Given the description of an element on the screen output the (x, y) to click on. 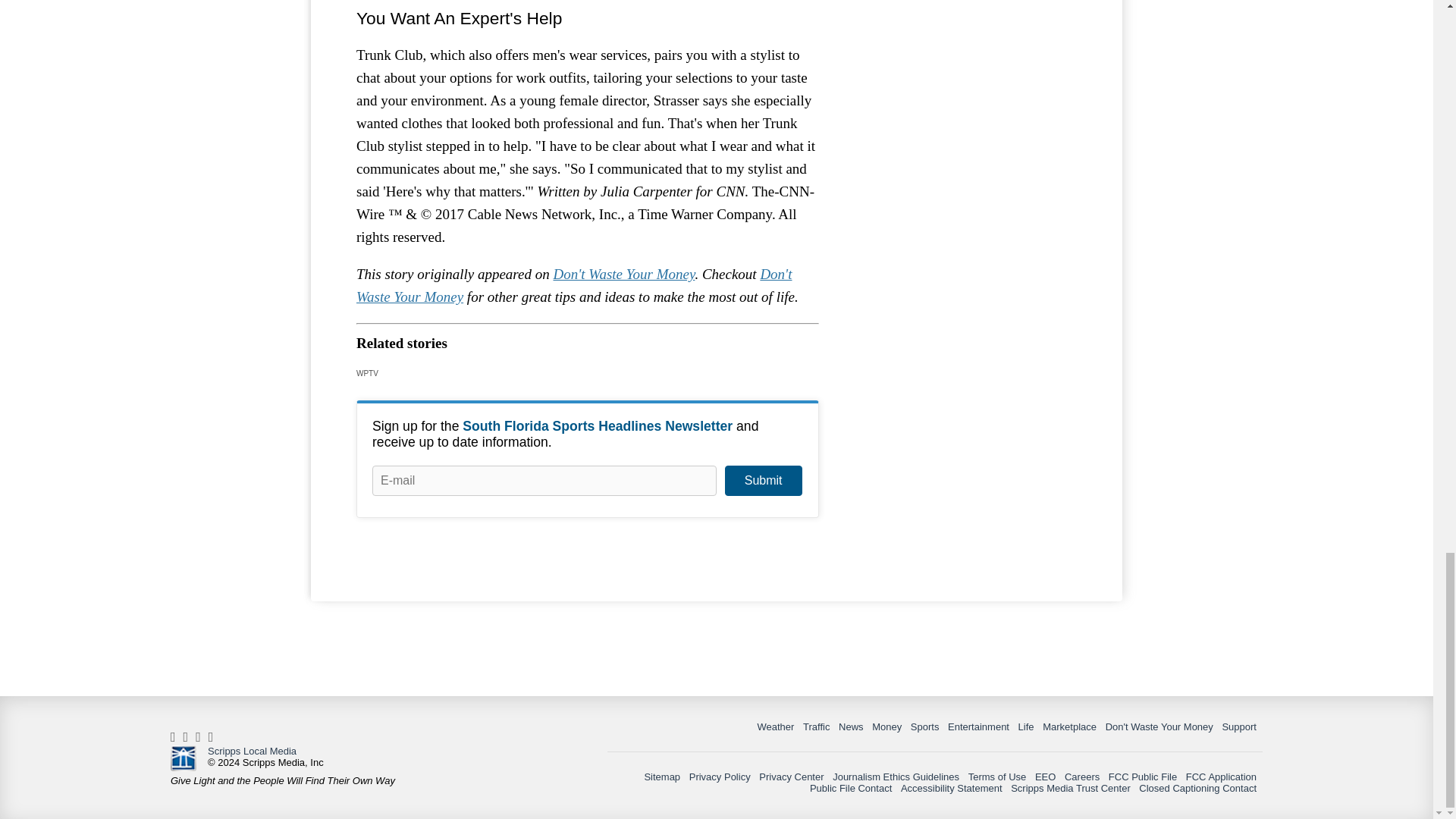
Submit (763, 481)
